Given the description of an element on the screen output the (x, y) to click on. 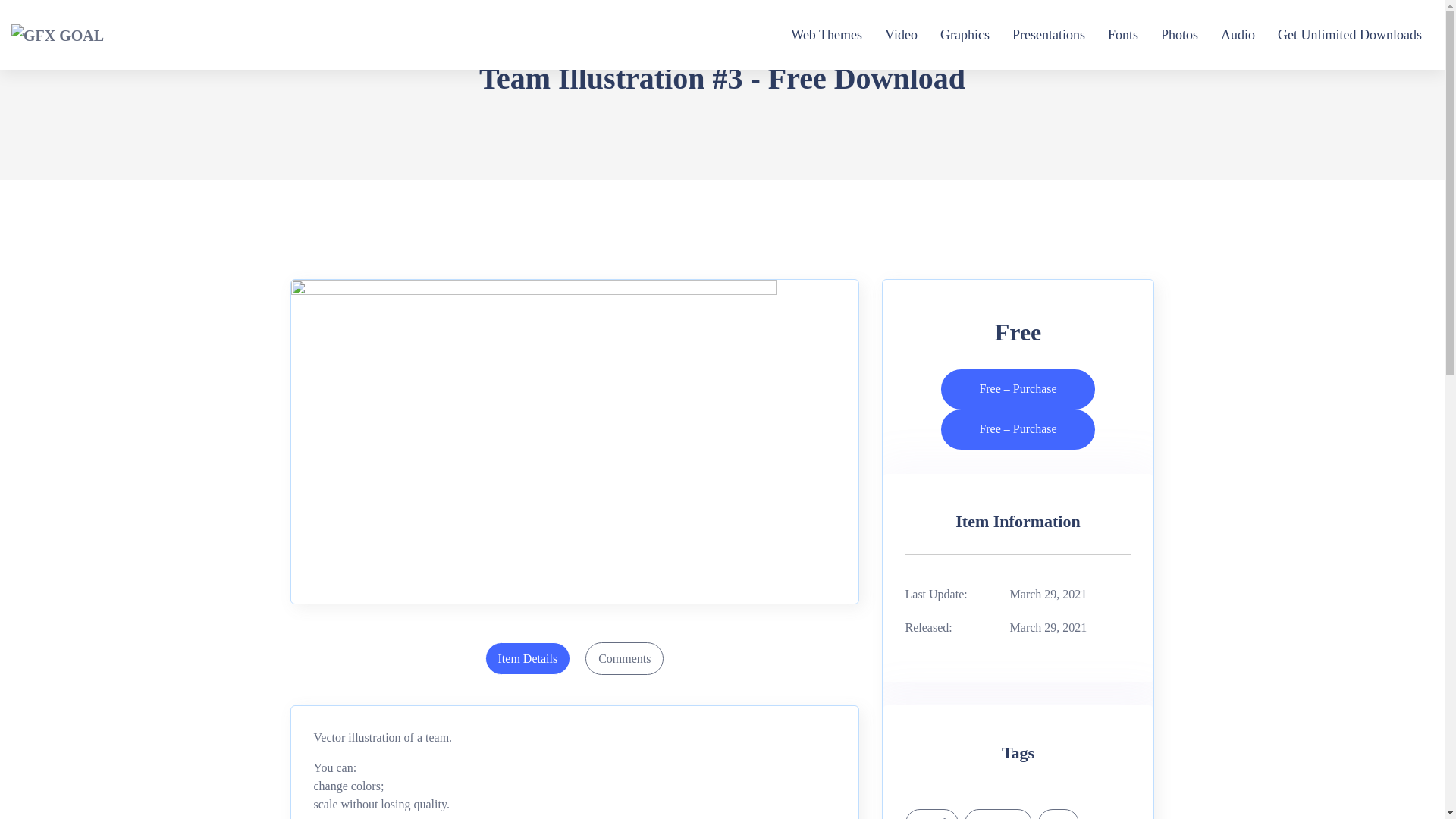
Photos (1179, 34)
Graphics (965, 34)
Video (901, 34)
Presentations (1047, 34)
Get Unlimited Downloads (1350, 34)
Web Themes (825, 34)
Fonts (1123, 34)
Audio (1238, 34)
